Given the description of an element on the screen output the (x, y) to click on. 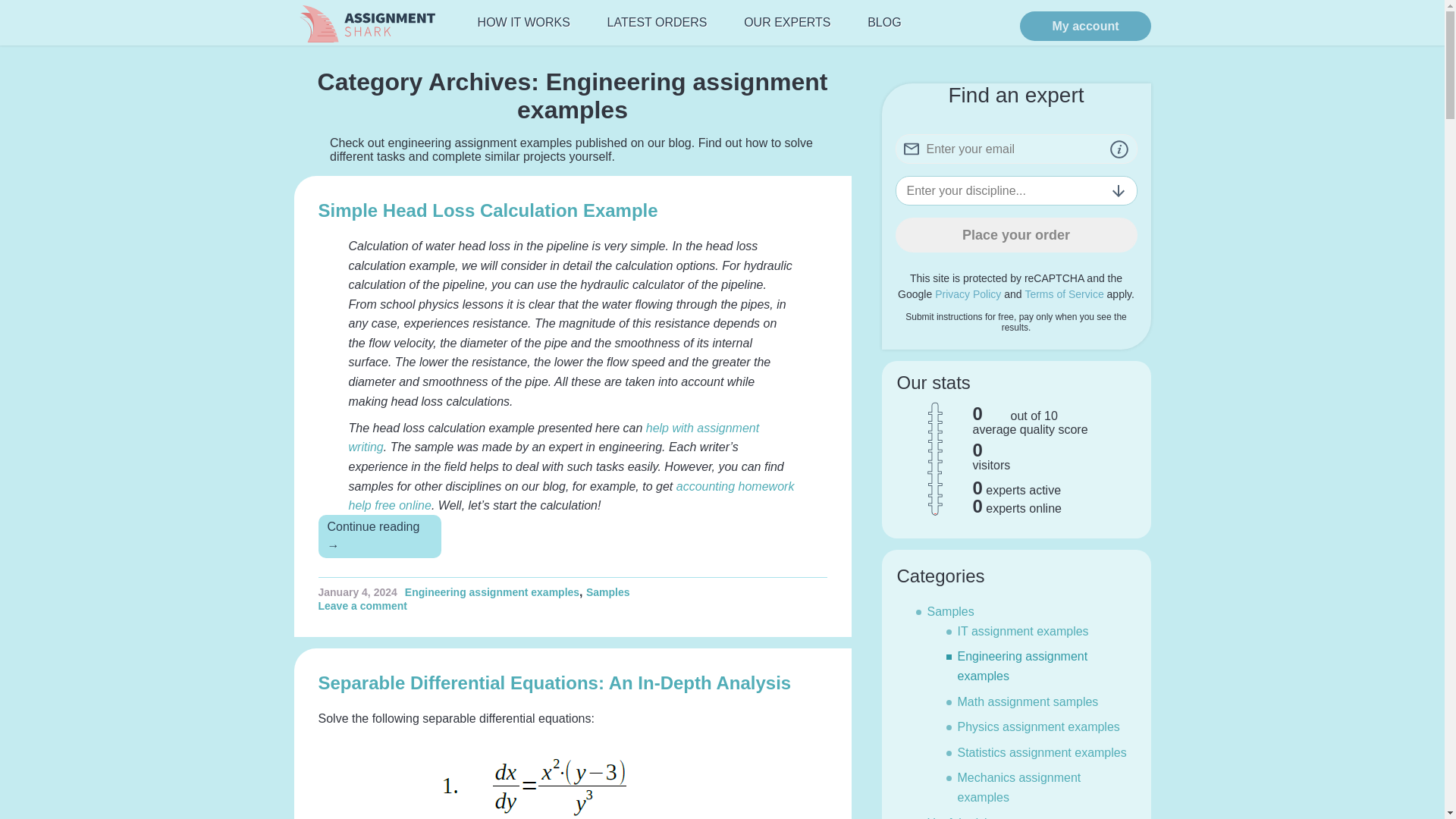
Simple Head Loss Calculation Example (488, 209)
HOW IT WORKS (523, 22)
Samples (608, 592)
LATEST ORDERS (656, 22)
Leave a comment (366, 605)
help with assignment writing (554, 437)
accounting homework help free online (571, 495)
January 4, 2024 (357, 592)
Engineering assignment examples (491, 592)
Separable Differential Equations: An In-Depth Analysis (555, 682)
OUR EXPERTS (786, 22)
Permalink to Simple Head Loss Calculation Example (357, 592)
My account (1085, 25)
BLOG (884, 22)
